Given the description of an element on the screen output the (x, y) to click on. 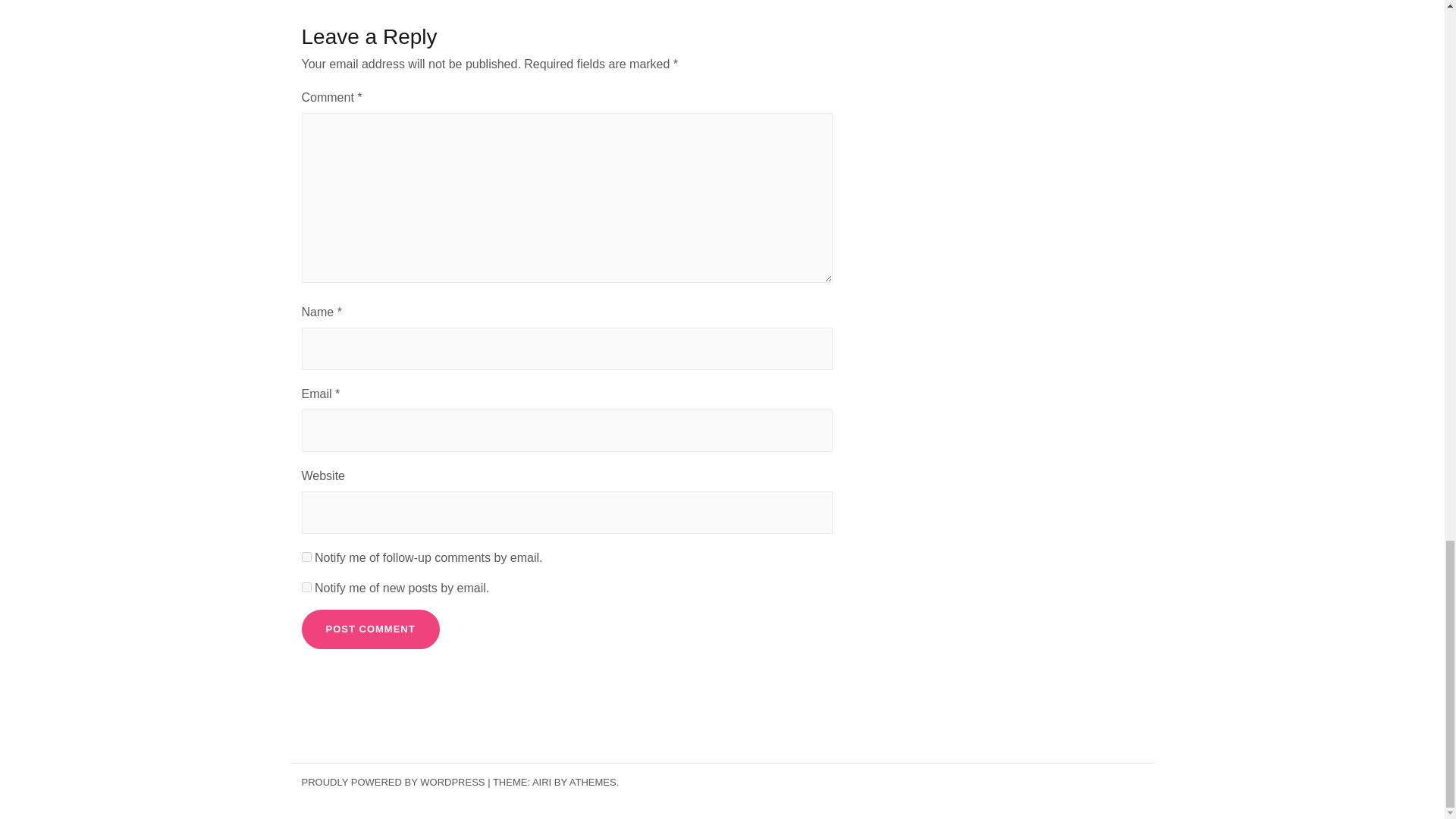
Post Comment (370, 629)
subscribe (306, 587)
subscribe (306, 556)
Post Comment (370, 629)
